Given the description of an element on the screen output the (x, y) to click on. 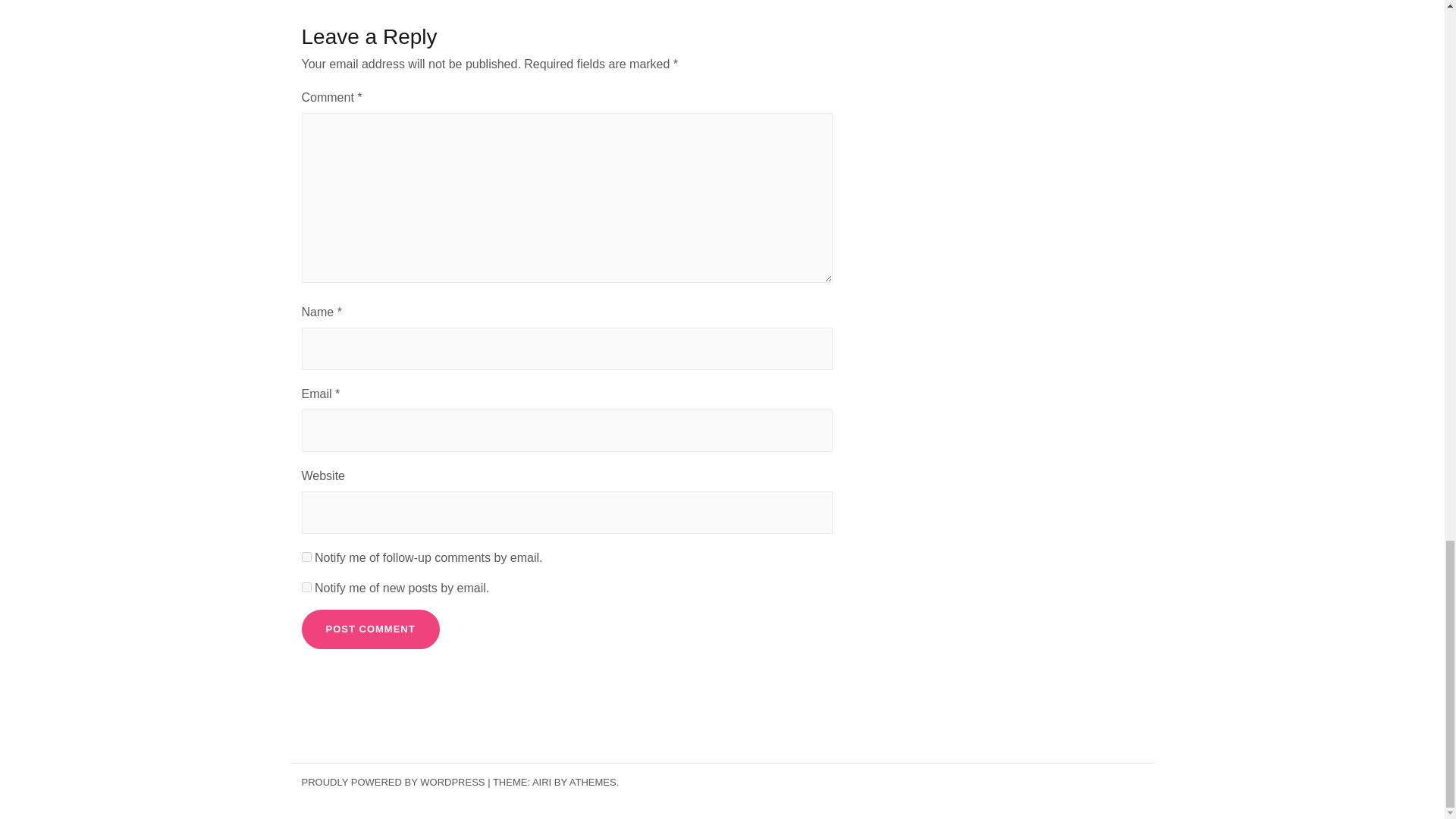
Post Comment (370, 629)
subscribe (306, 587)
subscribe (306, 556)
Post Comment (370, 629)
